Given the description of an element on the screen output the (x, y) to click on. 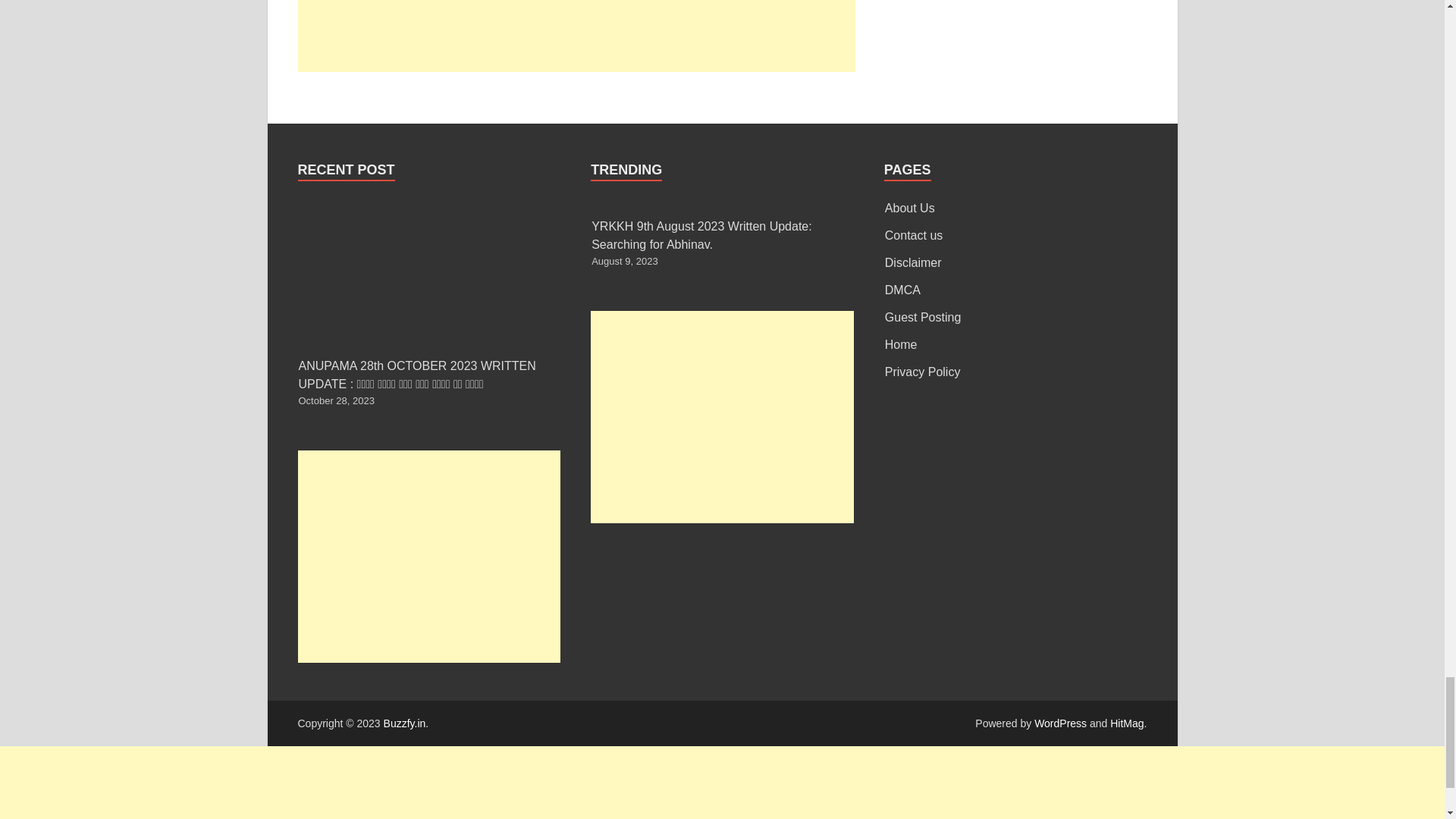
YRKKH 9th August 2023 Written Update: Searching for Abhinav. (701, 235)
Buzzfy.in (405, 723)
WordPress (1059, 723)
About Us (909, 207)
